Given the description of an element on the screen output the (x, y) to click on. 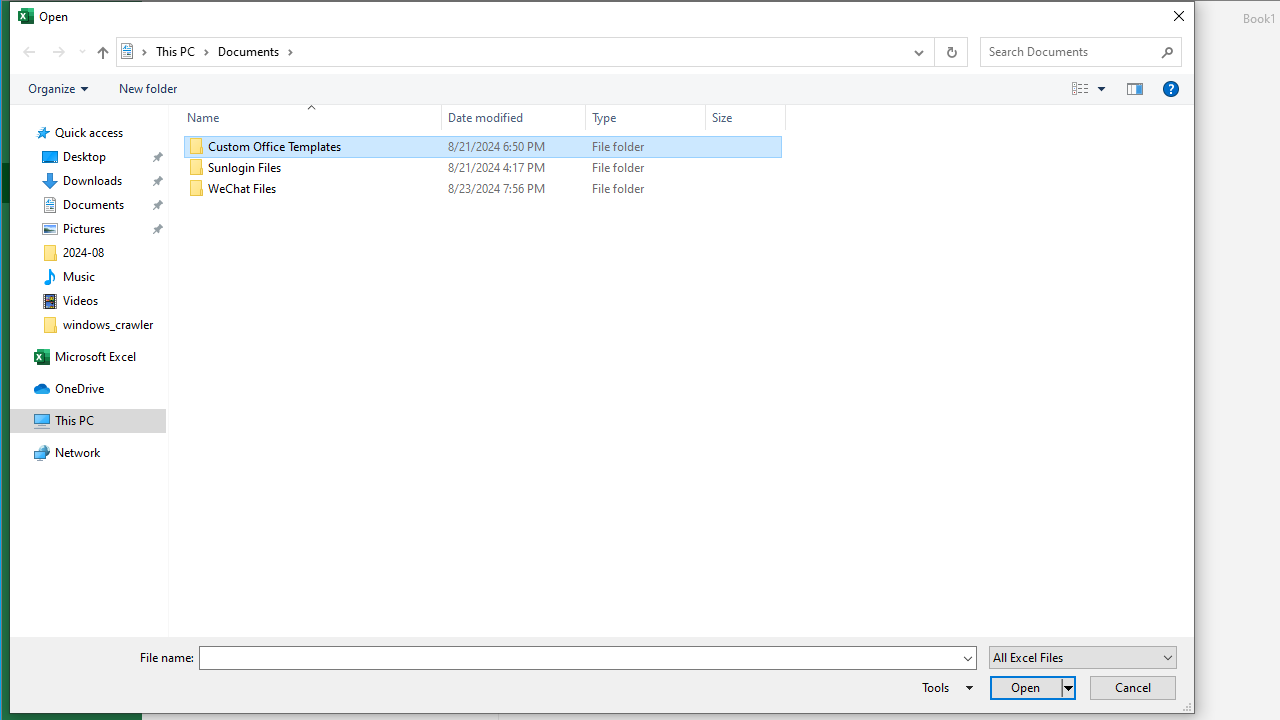
View Slider (1102, 89)
Up band toolbar (102, 55)
Tools (943, 687)
Name (323, 188)
Files of type: (1083, 656)
Type (646, 188)
Filter dropdown (777, 117)
File name: (587, 657)
Up to "This PC" (Alt + Up Arrow) (102, 52)
Navigation buttons (52, 51)
File name: (580, 658)
Organize (57, 89)
